Given the description of an element on the screen output the (x, y) to click on. 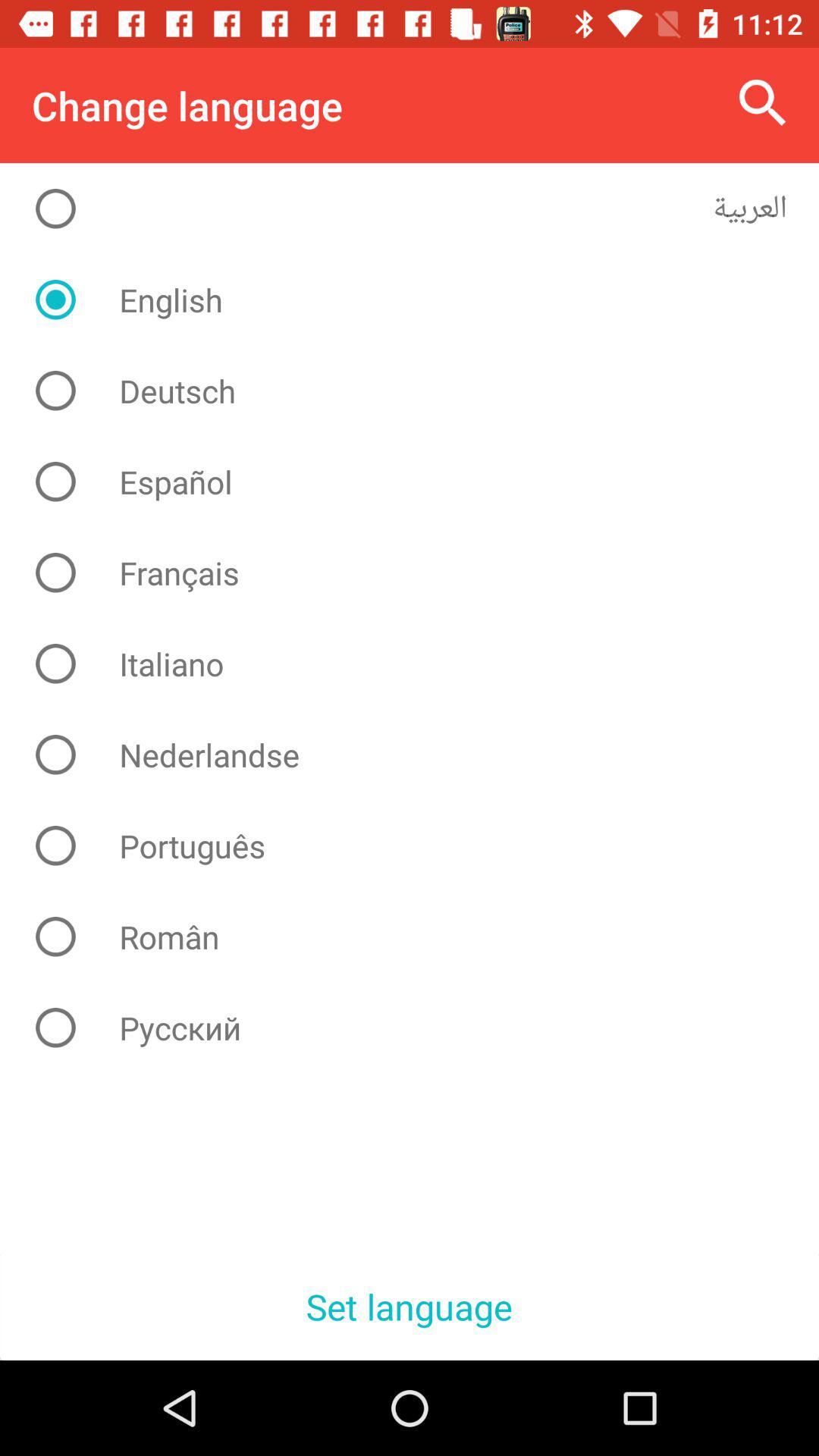
turn off the item above nederlandse (421, 663)
